Given the description of an element on the screen output the (x, y) to click on. 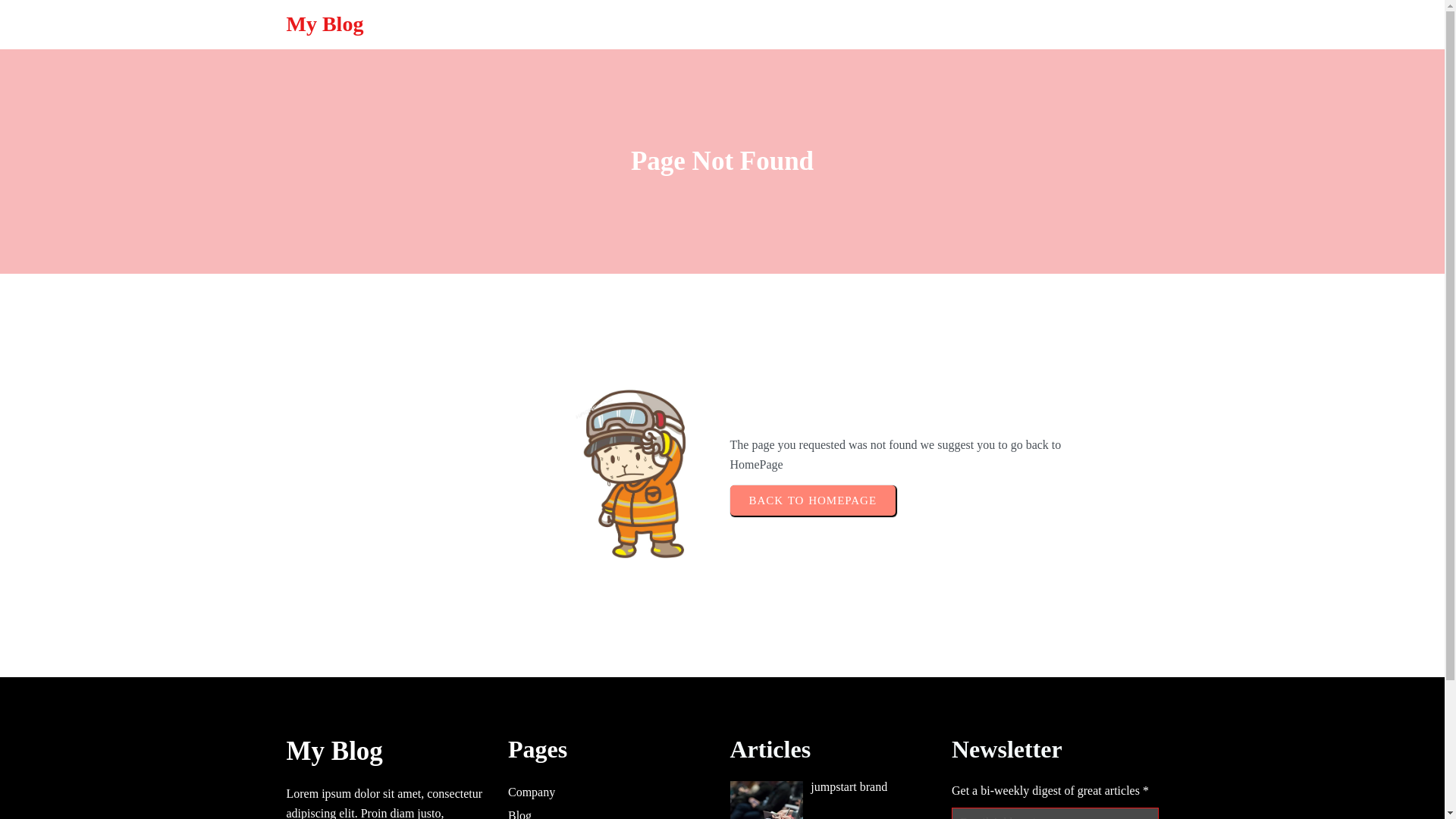
image1 (766, 800)
My Blog (411, 24)
BACK TO HOMEPAGE (812, 500)
My Blog (389, 751)
